Given the description of an element on the screen output the (x, y) to click on. 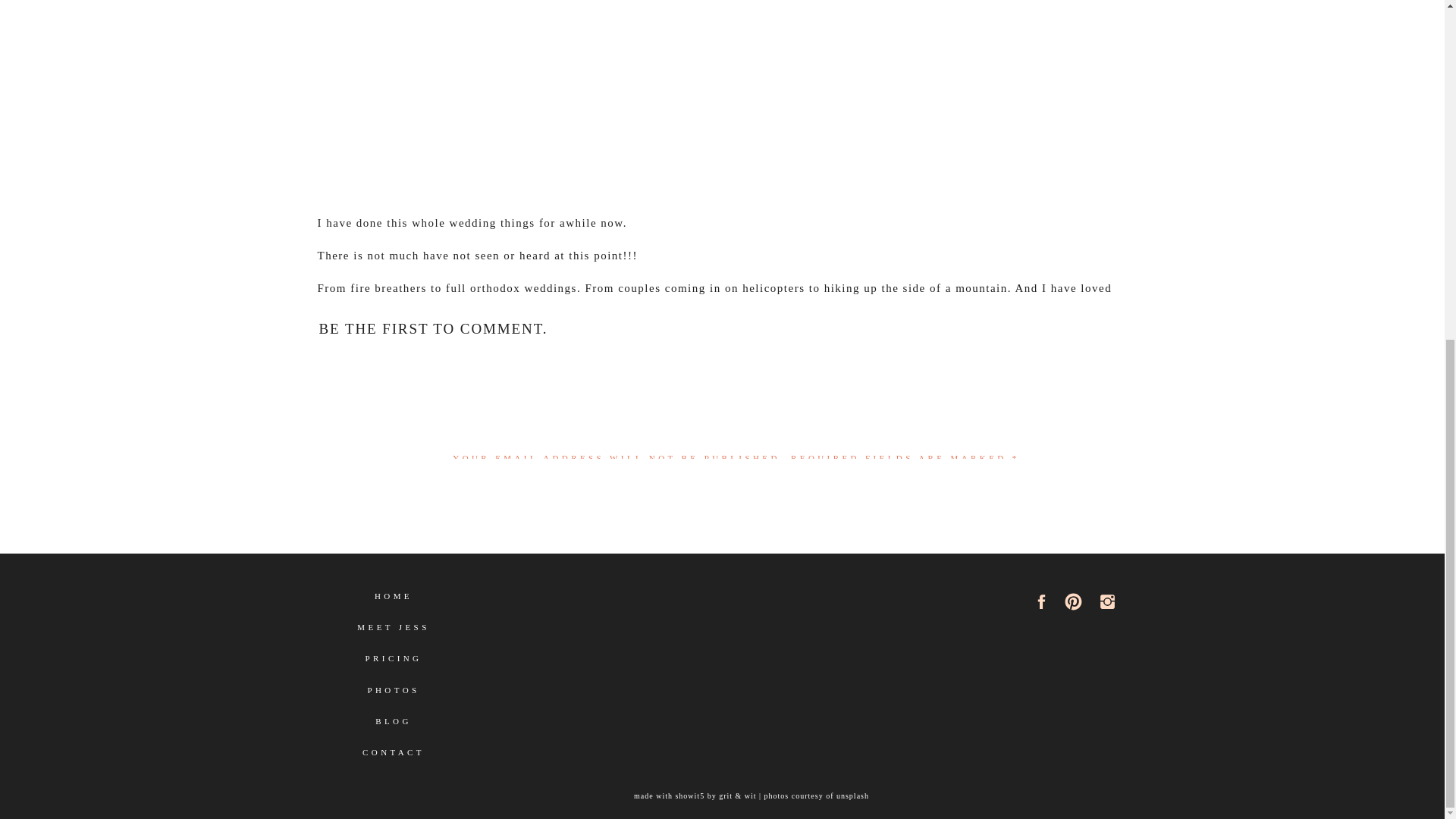
BLOG (393, 727)
Post Comment (735, 776)
HOME (393, 601)
CONTACT (393, 758)
PRICING (393, 664)
Post Comment (735, 776)
BE THE FIRST TO COMMENT. (432, 328)
PHOTOS (393, 696)
MEET JESS (392, 633)
